Given the description of an element on the screen output the (x, y) to click on. 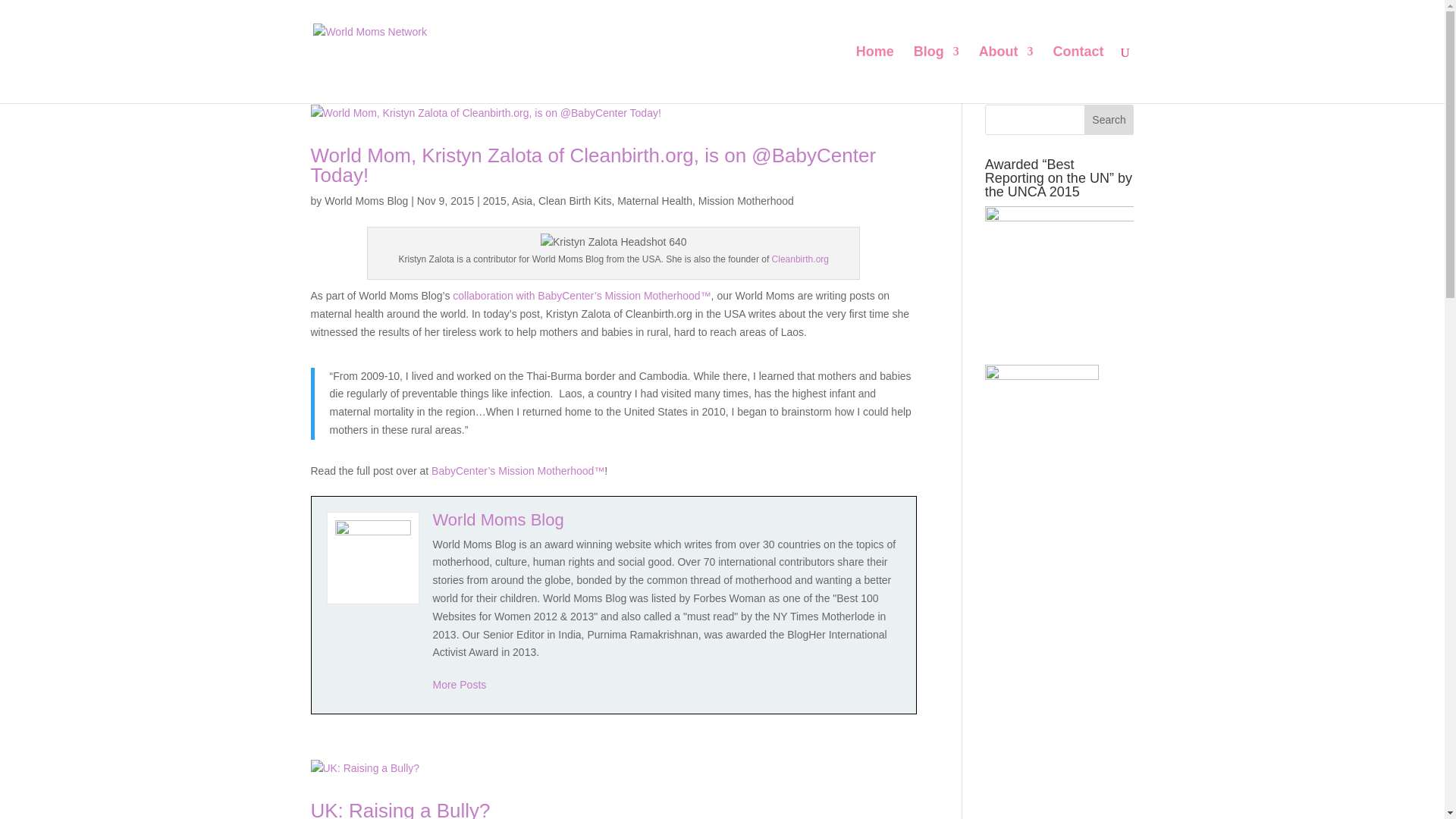
Maternal Health (655, 200)
Search (1109, 119)
2015 (494, 200)
More Posts (459, 684)
Contact (1077, 74)
Posts by World Moms Blog (365, 200)
Mission Motherhood (745, 200)
Clean Birth Kits (574, 200)
World Moms Blog (497, 519)
About (1005, 74)
